Given the description of an element on the screen output the (x, y) to click on. 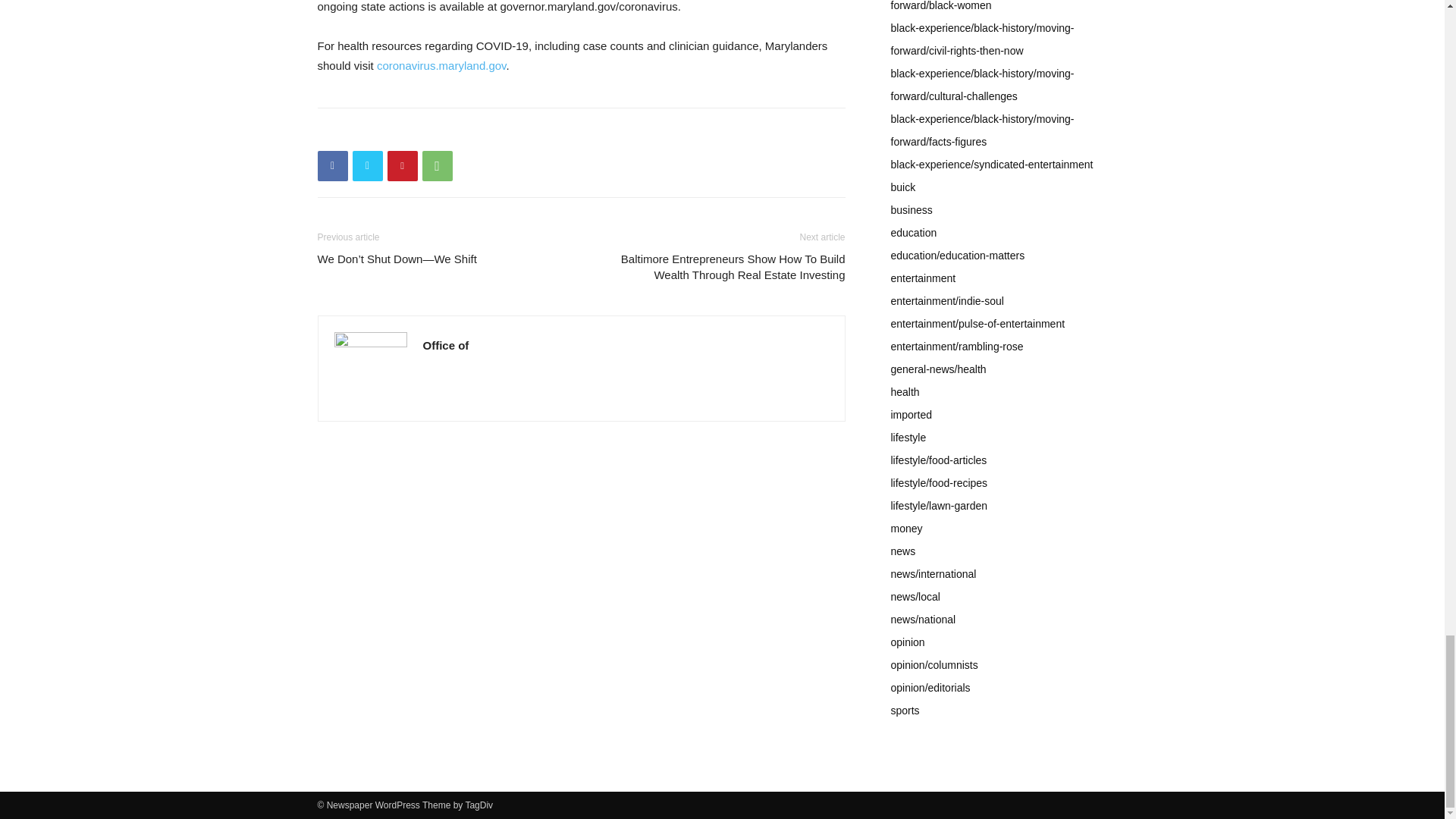
coronavirus.maryland.gov (441, 65)
bottomFacebookLike (430, 132)
Office of (445, 345)
Pinterest (401, 165)
WhatsApp (436, 165)
Facebook (332, 165)
Twitter (366, 165)
